Given the description of an element on the screen output the (x, y) to click on. 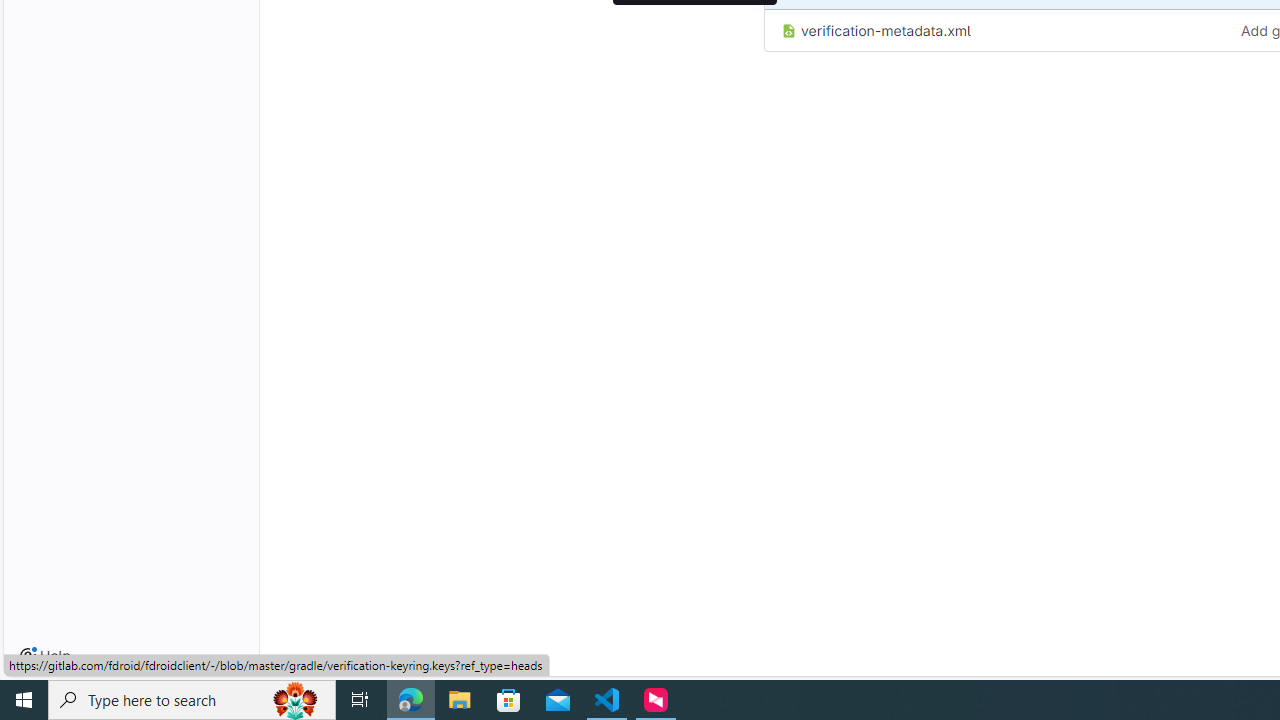
verification-metadata.xml (994, 29)
Class: s16 position-relative file-icon (788, 31)
verification-metadata.xml (875, 30)
